Given the description of an element on the screen output the (x, y) to click on. 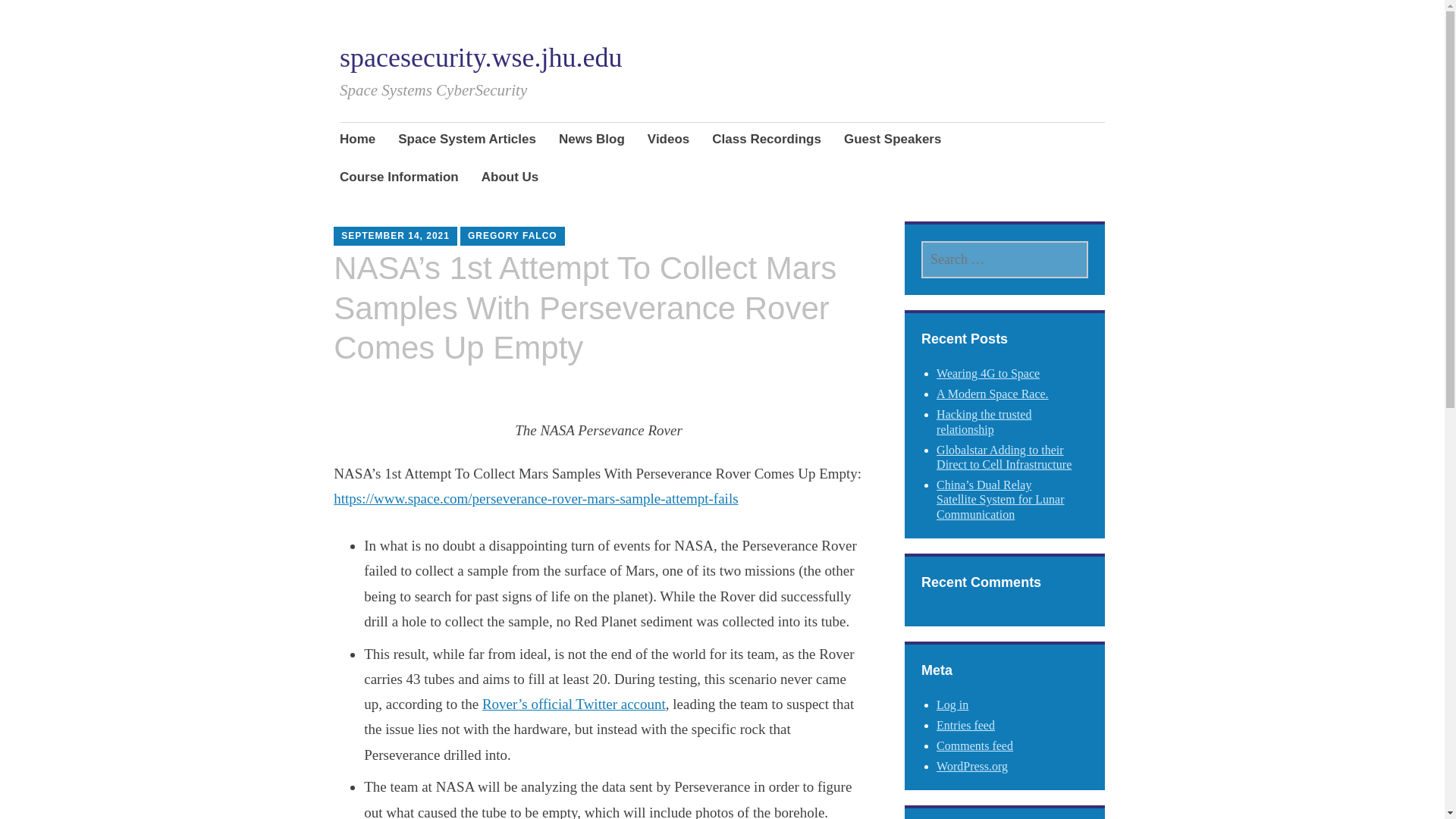
News Blog (591, 140)
WordPress.org (971, 766)
Search (173, 17)
SEPTEMBER 14, 2021 (394, 235)
GREGORY FALCO (512, 235)
About Us (509, 178)
Comments feed (974, 745)
Guest Speakers (893, 140)
Videos (667, 140)
A Modern Space Race. (992, 393)
